Given the description of an element on the screen output the (x, y) to click on. 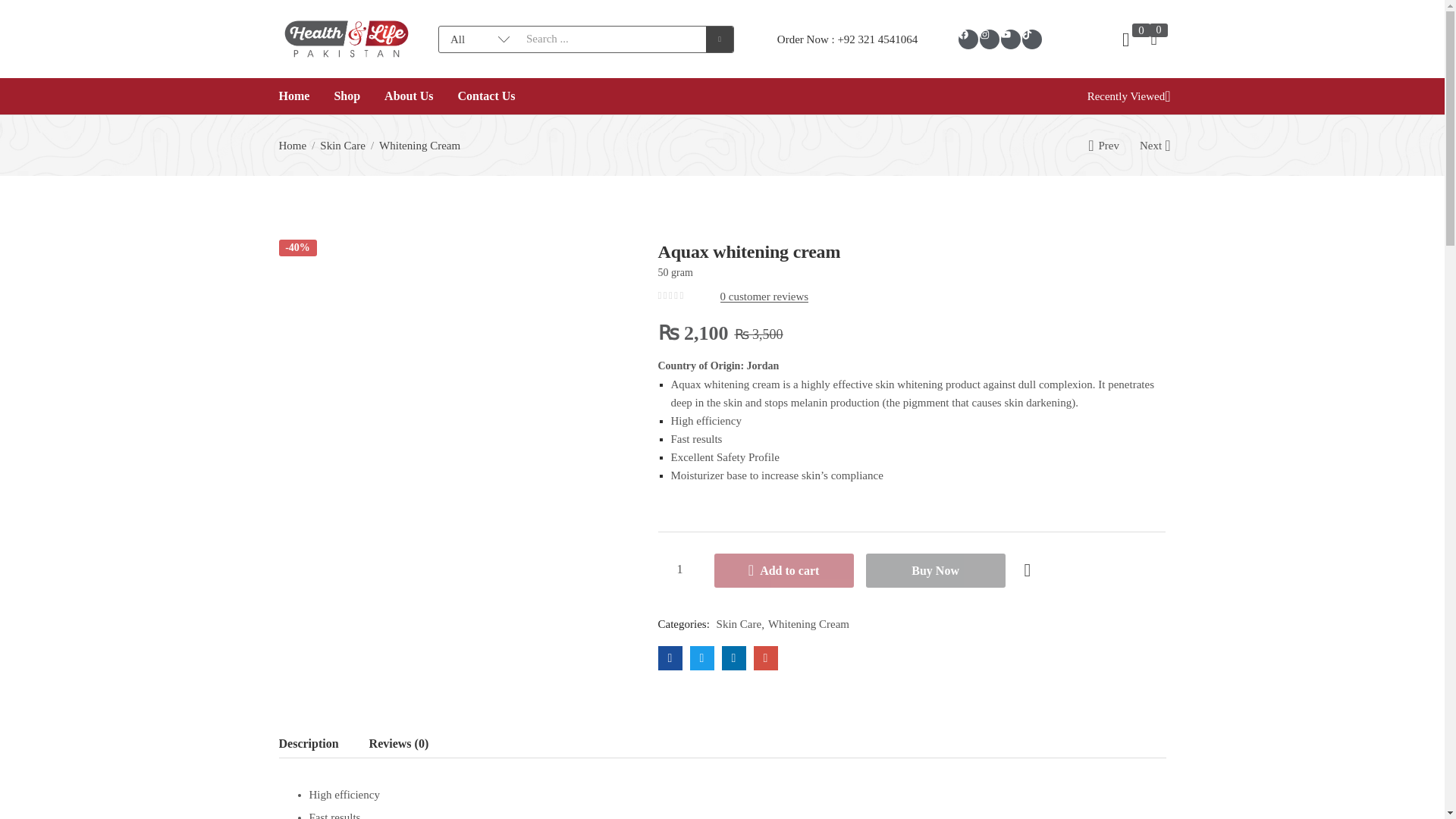
Aquax whitening cream (670, 658)
1 (679, 569)
Aquax whitening cream (765, 658)
